Given the description of an element on the screen output the (x, y) to click on. 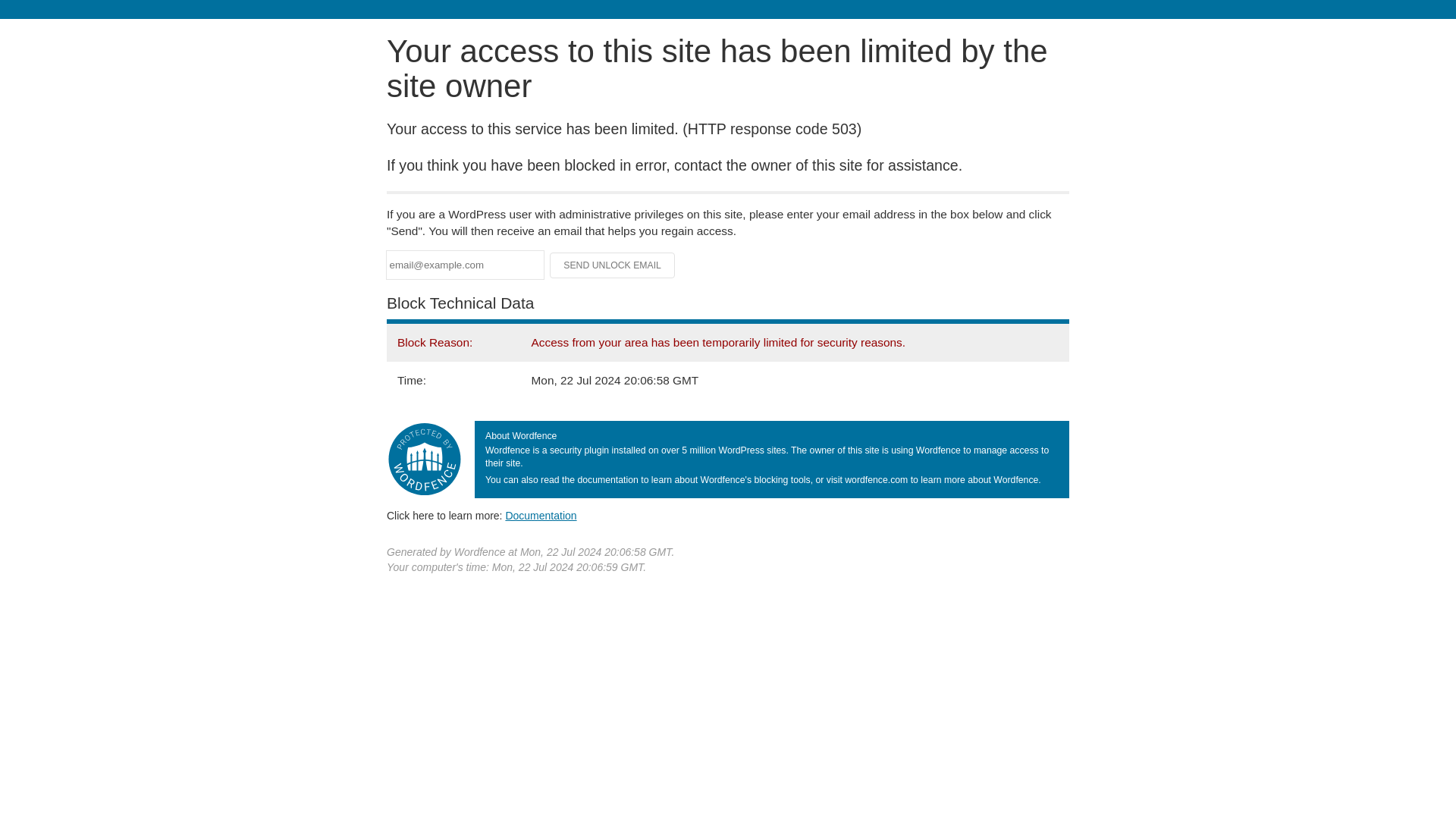
Send Unlock Email (612, 265)
Send Unlock Email (612, 265)
Documentation (540, 515)
